Given the description of an element on the screen output the (x, y) to click on. 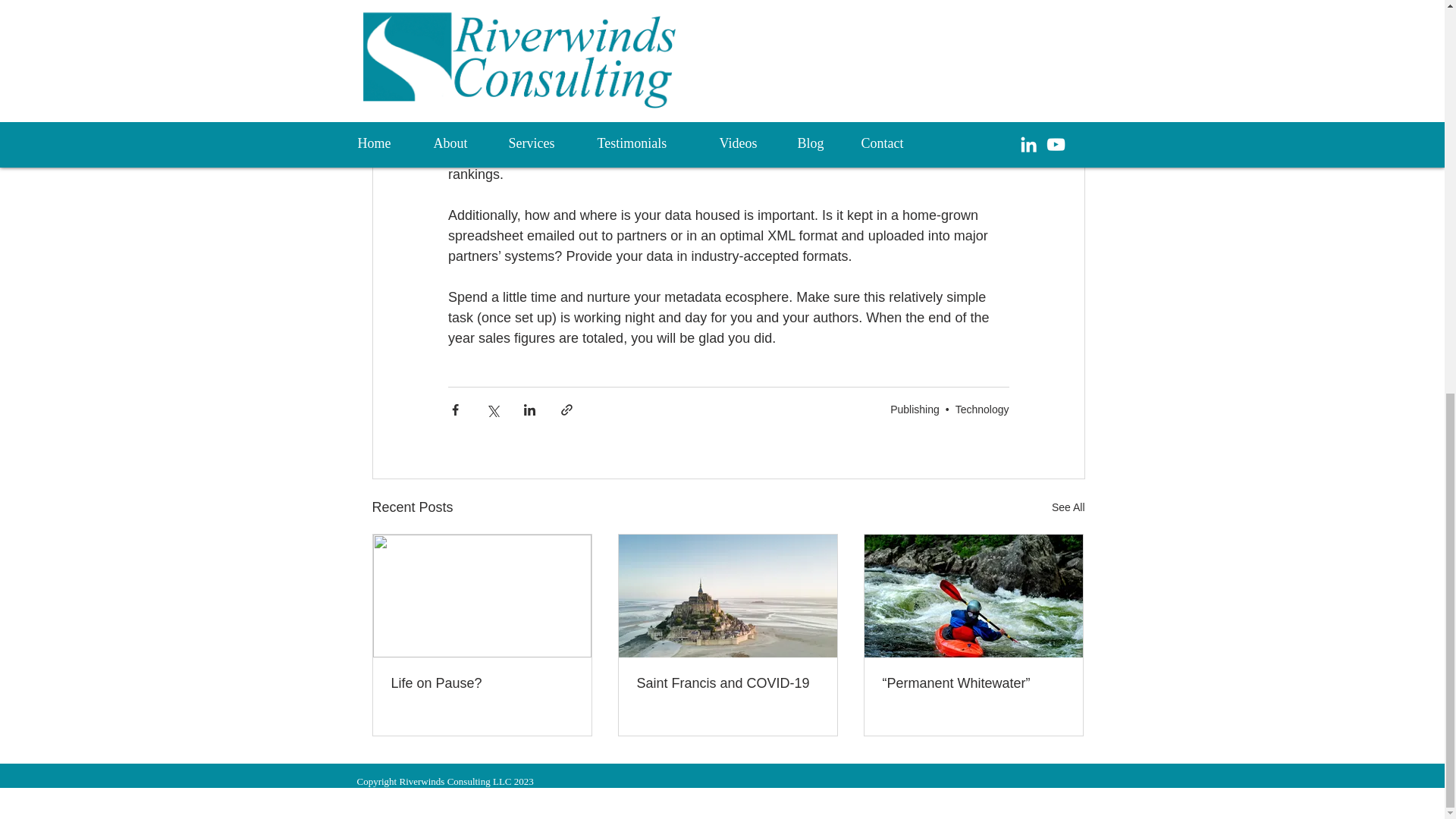
Life on Pause? (482, 683)
Publishing (914, 409)
Technology (982, 409)
See All (1067, 507)
Saint Francis and COVID-19 (727, 683)
